Given the description of an element on the screen output the (x, y) to click on. 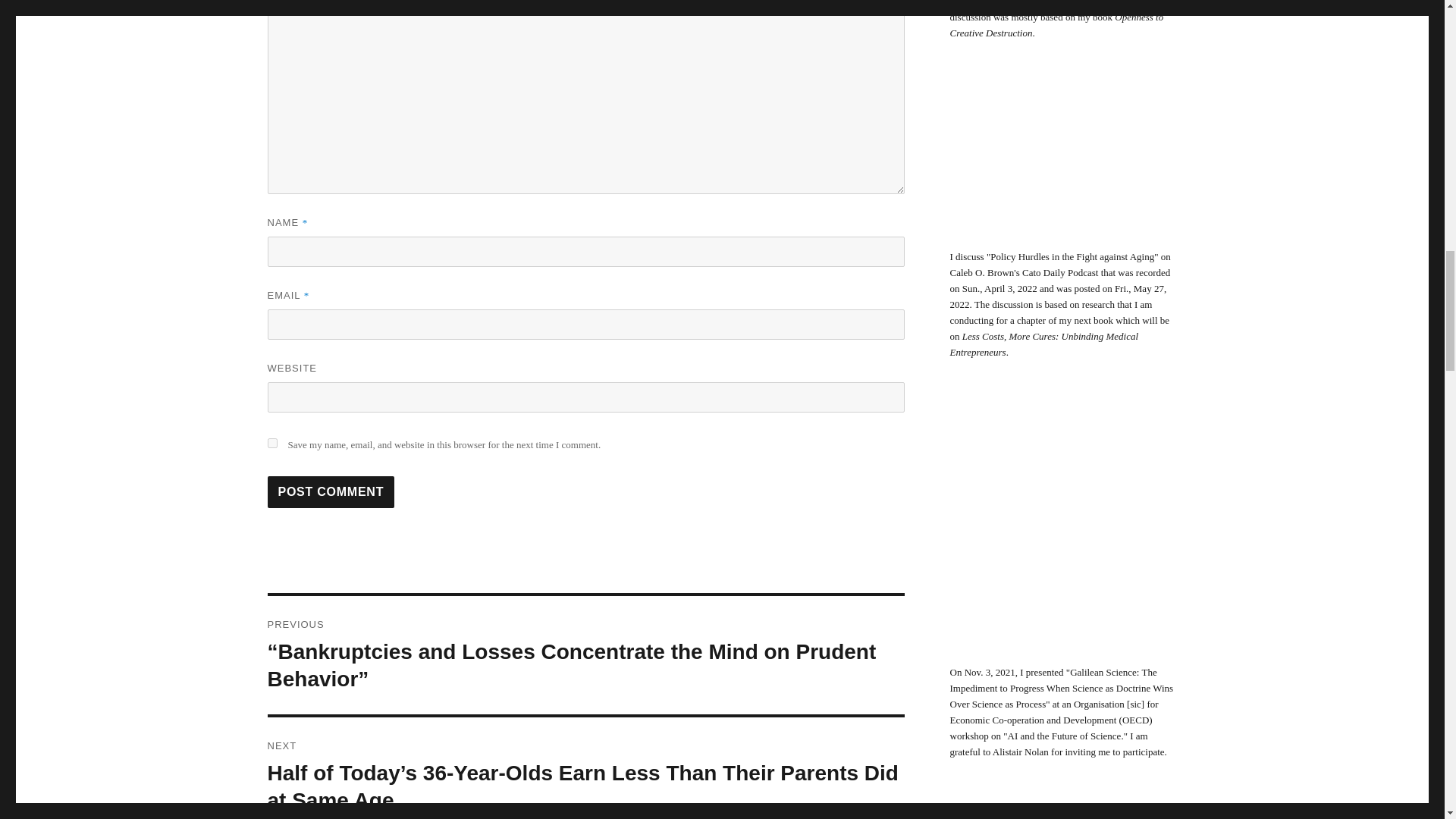
Embed Player (1062, 160)
Post Comment (330, 491)
YouTube video player (1062, 527)
yes (271, 442)
Post Comment (330, 491)
